Given the description of an element on the screen output the (x, y) to click on. 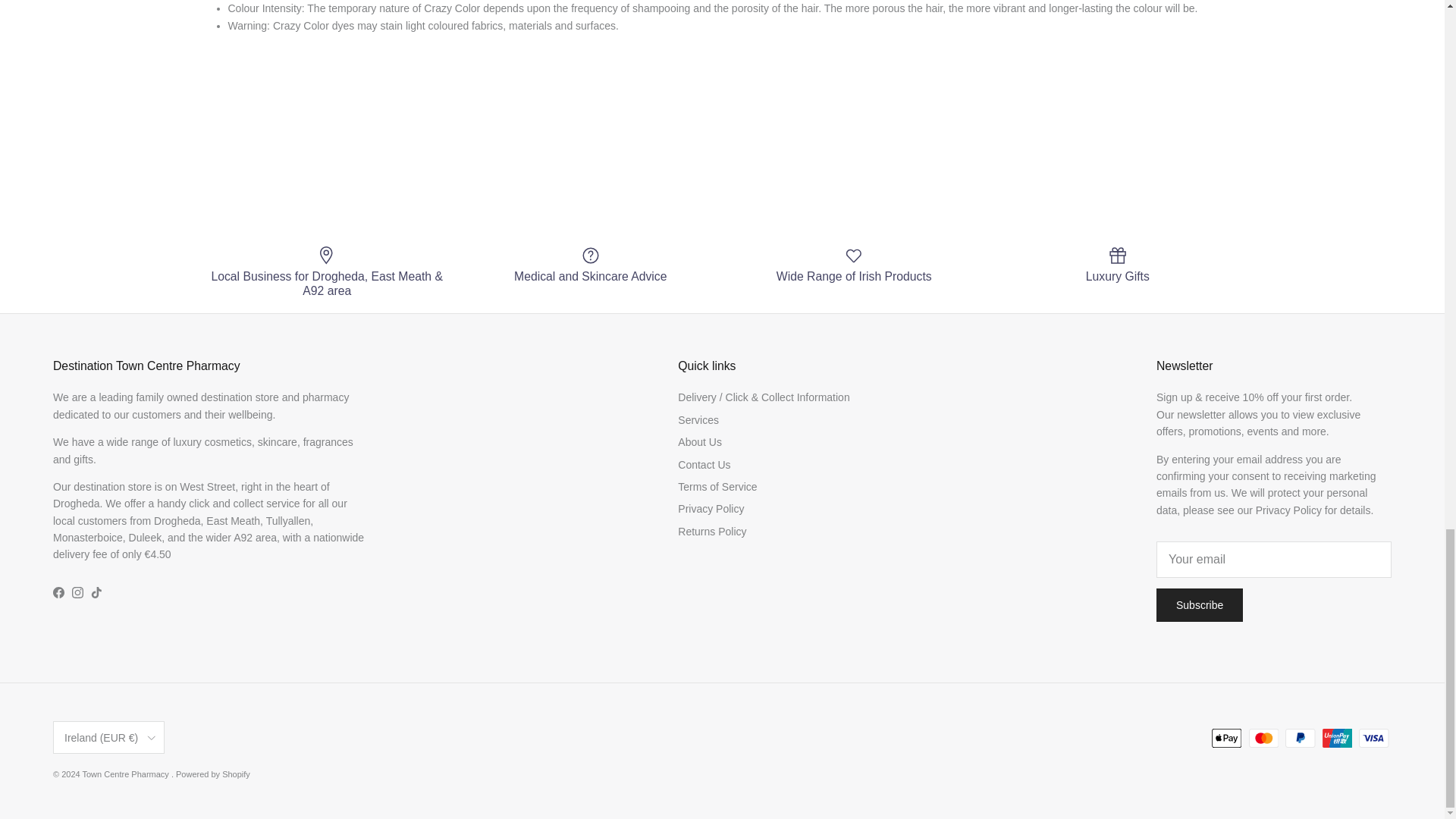
Town Centre Pharmacy  on Facebook (58, 592)
Town Centre Pharmacy  on TikTok (95, 592)
Apple Pay (1226, 737)
Town Centre Pharmacy  on Instagram (76, 592)
